Given the description of an element on the screen output the (x, y) to click on. 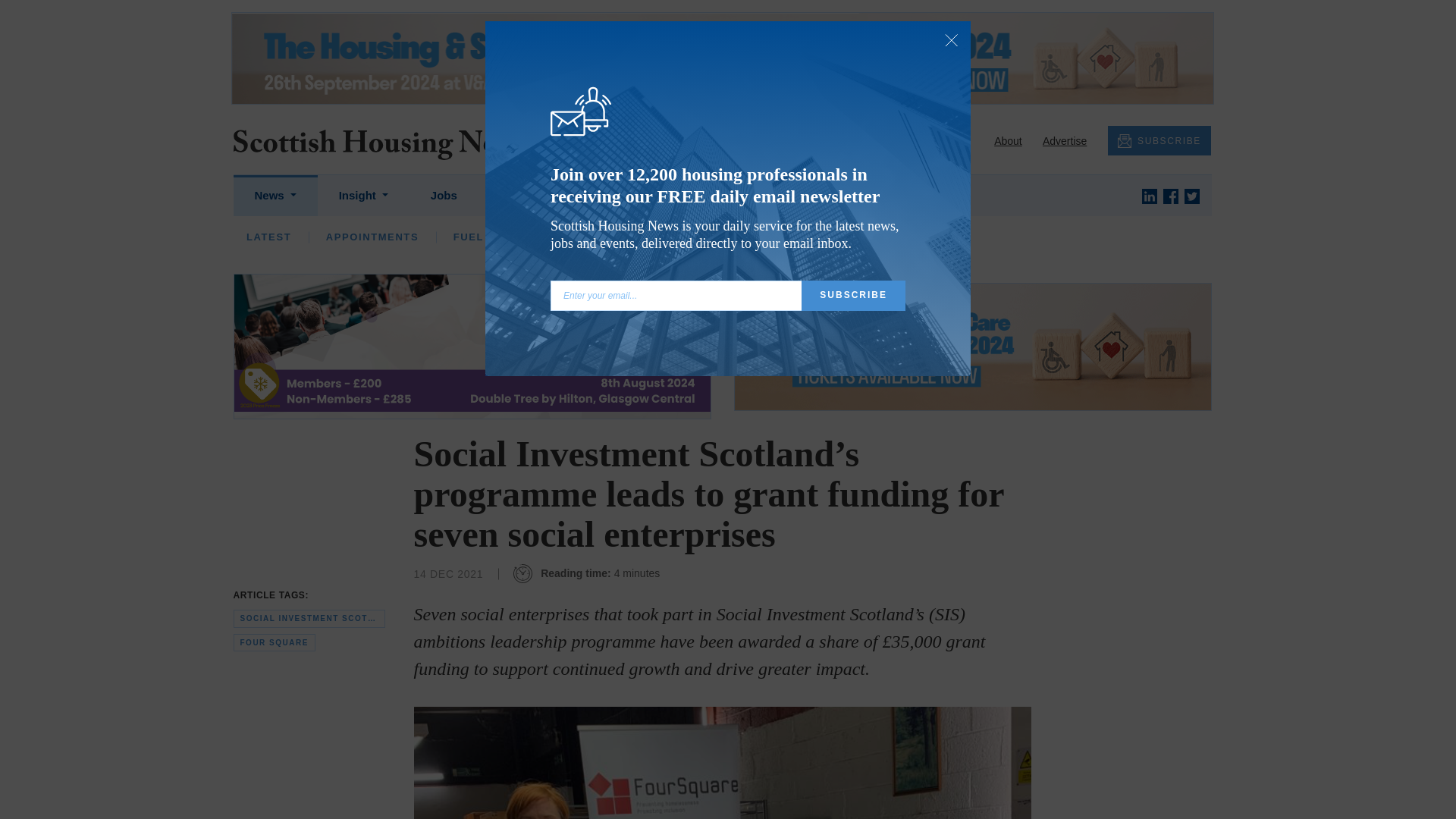
LATEST (268, 236)
News (274, 196)
HOUSING CHAMPIONS (582, 236)
PRS (721, 236)
OPINION (350, 236)
HOMELESSNESS (626, 236)
Jobs (444, 196)
OUR HOUSING HERITAGE (1035, 236)
SUBSCRIBE (1158, 140)
SFHA TECH COLUMN (742, 236)
APPOINTMENTS (372, 236)
Insight (363, 196)
Advertise (1064, 141)
Podcast (601, 196)
FUEL POVERTY (497, 236)
